Given the description of an element on the screen output the (x, y) to click on. 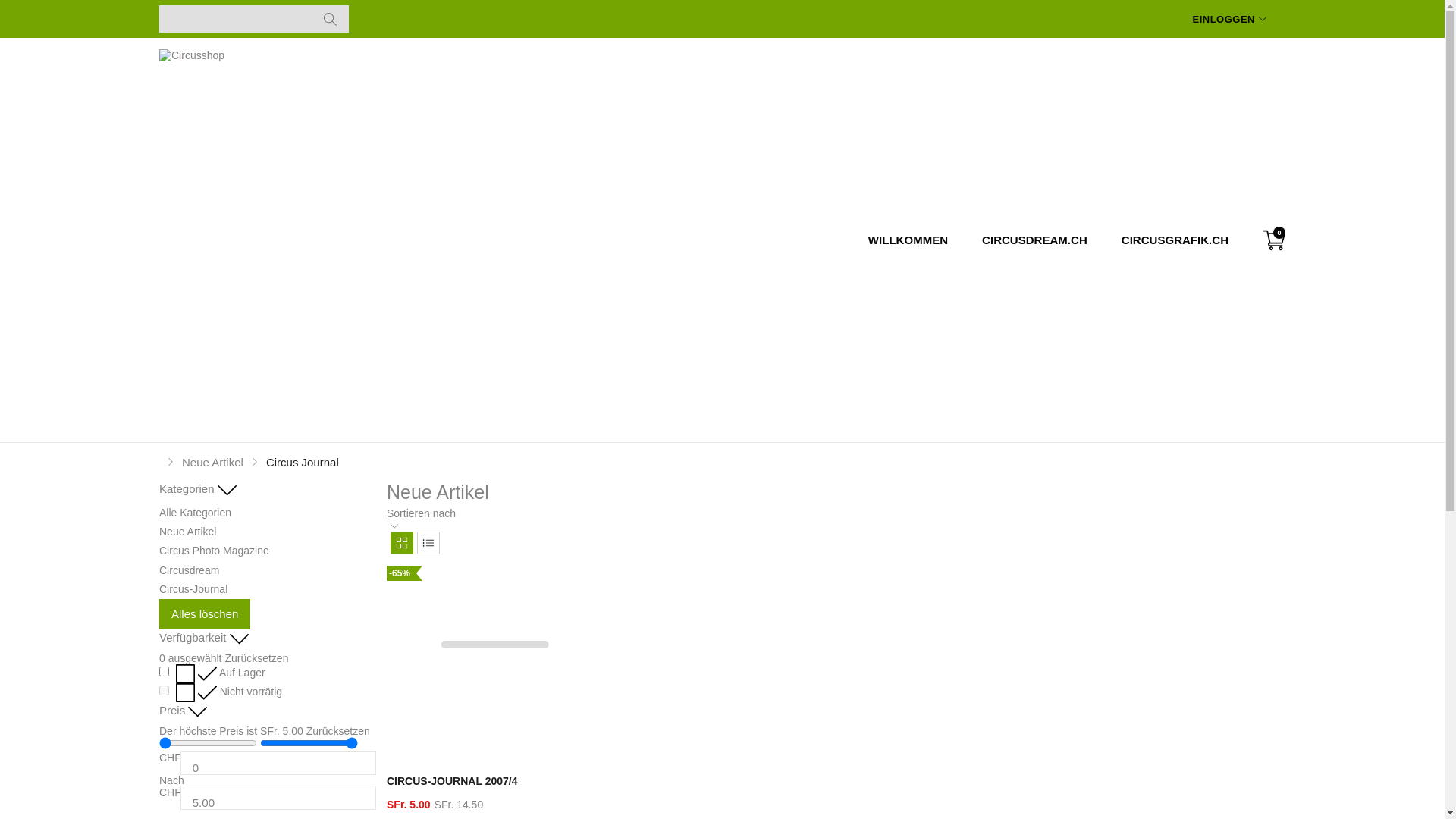
CIRCUS-JOURNAL 2007/4 Element type: text (494, 765)
0
Translation missing: de.sections.cart.cart_count Element type: text (1273, 240)
Circus-Journal Element type: text (193, 589)
Circus Photo Magazine Element type: text (214, 550)
Alle Kategorien Element type: text (195, 512)
CIRCUSDREAM.CH Element type: text (1034, 239)
Neue Artikel Element type: text (187, 531)
Neue Artikel Element type: text (212, 461)
Circusdream Element type: text (189, 570)
WILLKOMMEN Element type: text (909, 239)
EINLOGGEN Element type: text (1229, 19)
CIRCUSGRAFIK.CH Element type: text (1172, 239)
Circus-Journal 2007/4 Element type: text (494, 644)
